Given the description of an element on the screen output the (x, y) to click on. 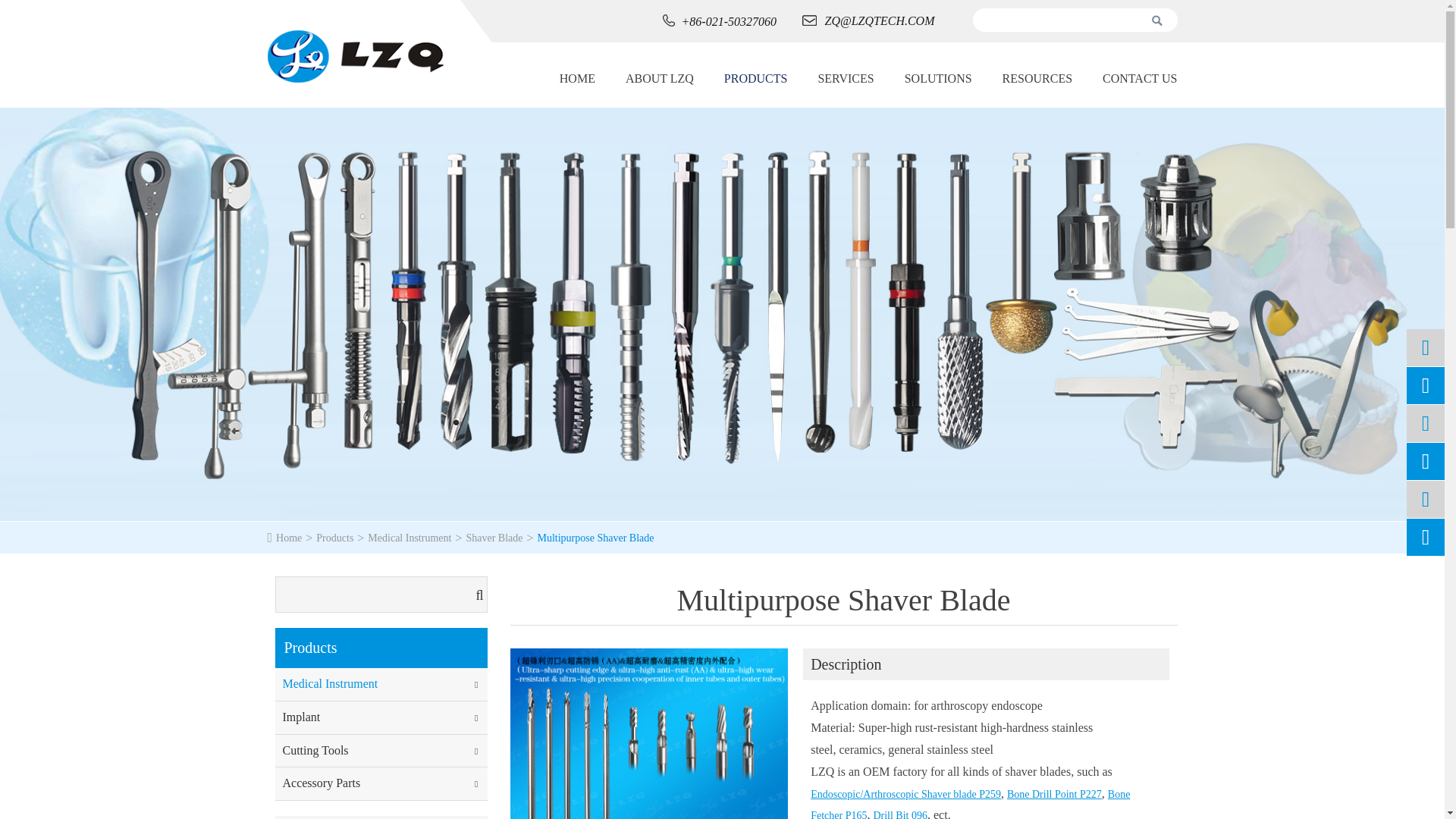
HOME (584, 78)
PRODUCTS (756, 78)
ABOUT LZQ (659, 78)
Multipurpose Shaver Blade (843, 600)
Shaver Blade (493, 537)
Multipurpose Shaver Blade (595, 537)
Products (334, 537)
Medical Instrument (409, 537)
